Given the description of an element on the screen output the (x, y) to click on. 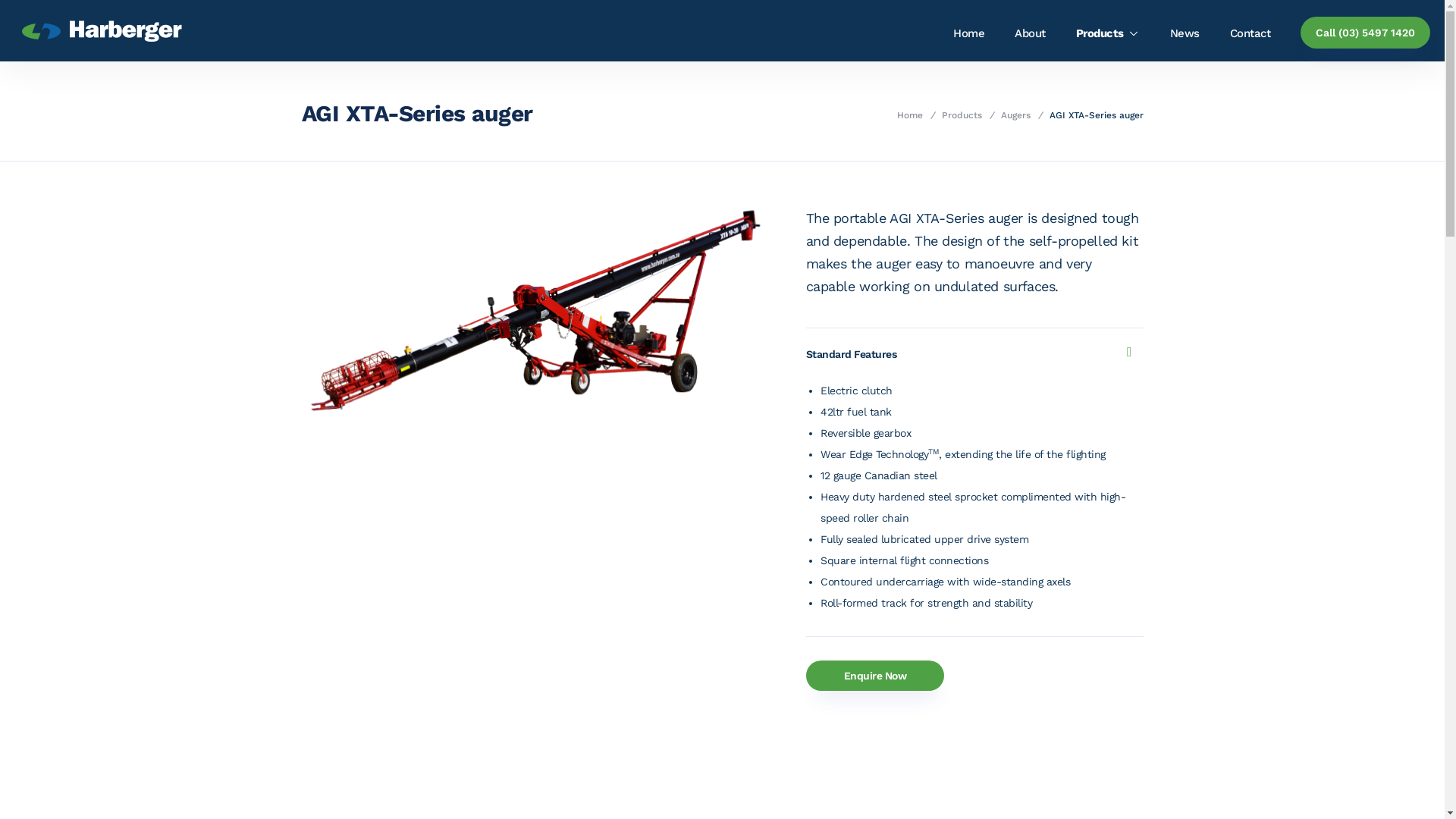
Enquire Now Element type: text (874, 675)
Contact Element type: text (1250, 32)
News Element type: text (1184, 32)
Home Element type: text (968, 32)
Products Element type: text (1107, 32)
Augers Element type: text (1015, 114)
Call (03) 5497 1420 Element type: text (1365, 32)
Products Element type: text (961, 114)
About Element type: text (1029, 32)
Home Element type: text (909, 114)
Standard Features Element type: text (968, 353)
